Given the description of an element on the screen output the (x, y) to click on. 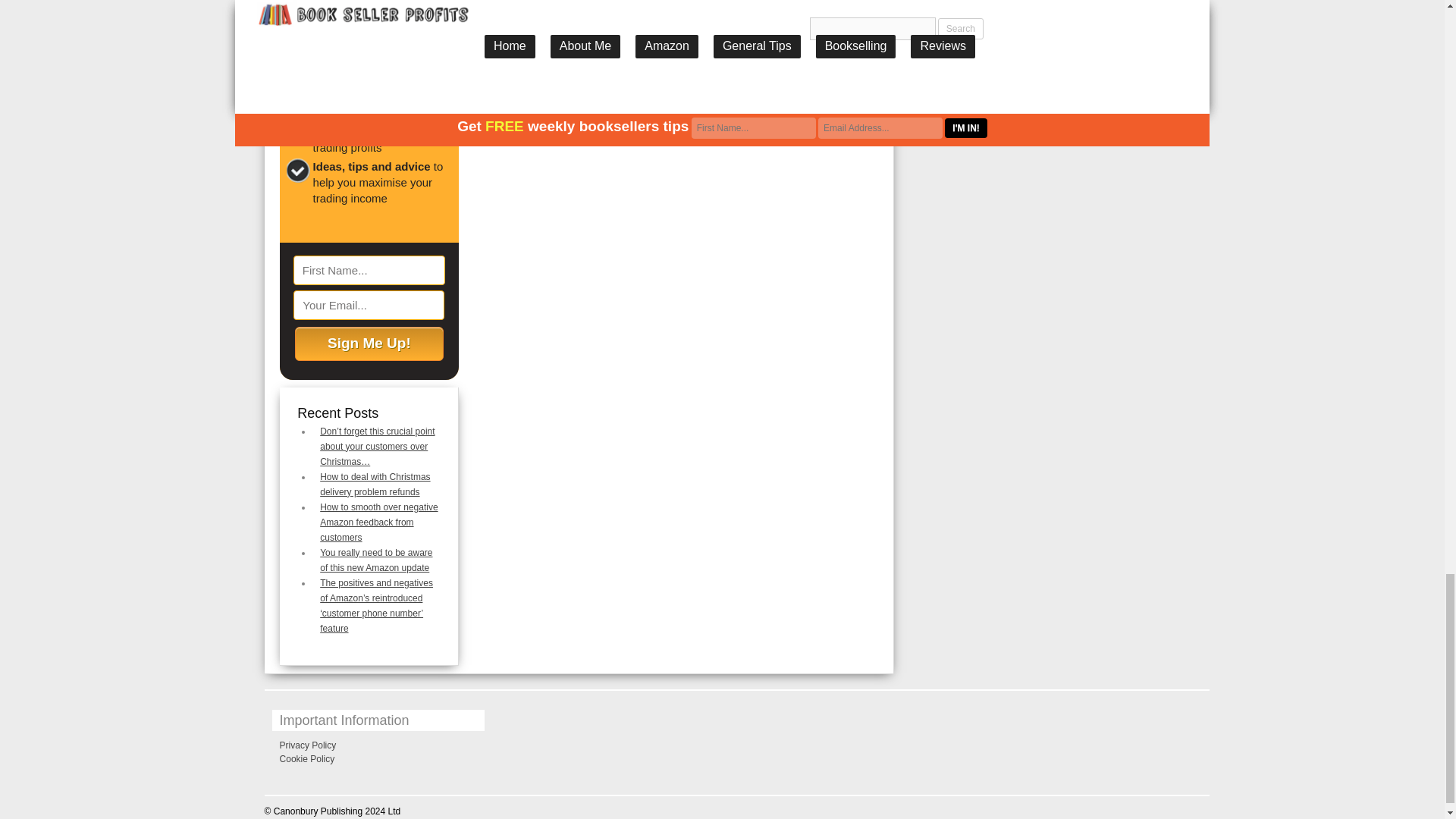
Your Email... (369, 305)
Sign Me Up! (369, 343)
First Name... (369, 270)
How to smooth over negative Amazon feedback from customers (379, 522)
Cookie Policy (306, 758)
You really need to be aware of this new Amazon update (376, 560)
How to deal with Christmas delivery problem refunds (374, 484)
Privacy Policy (307, 745)
